Given the description of an element on the screen output the (x, y) to click on. 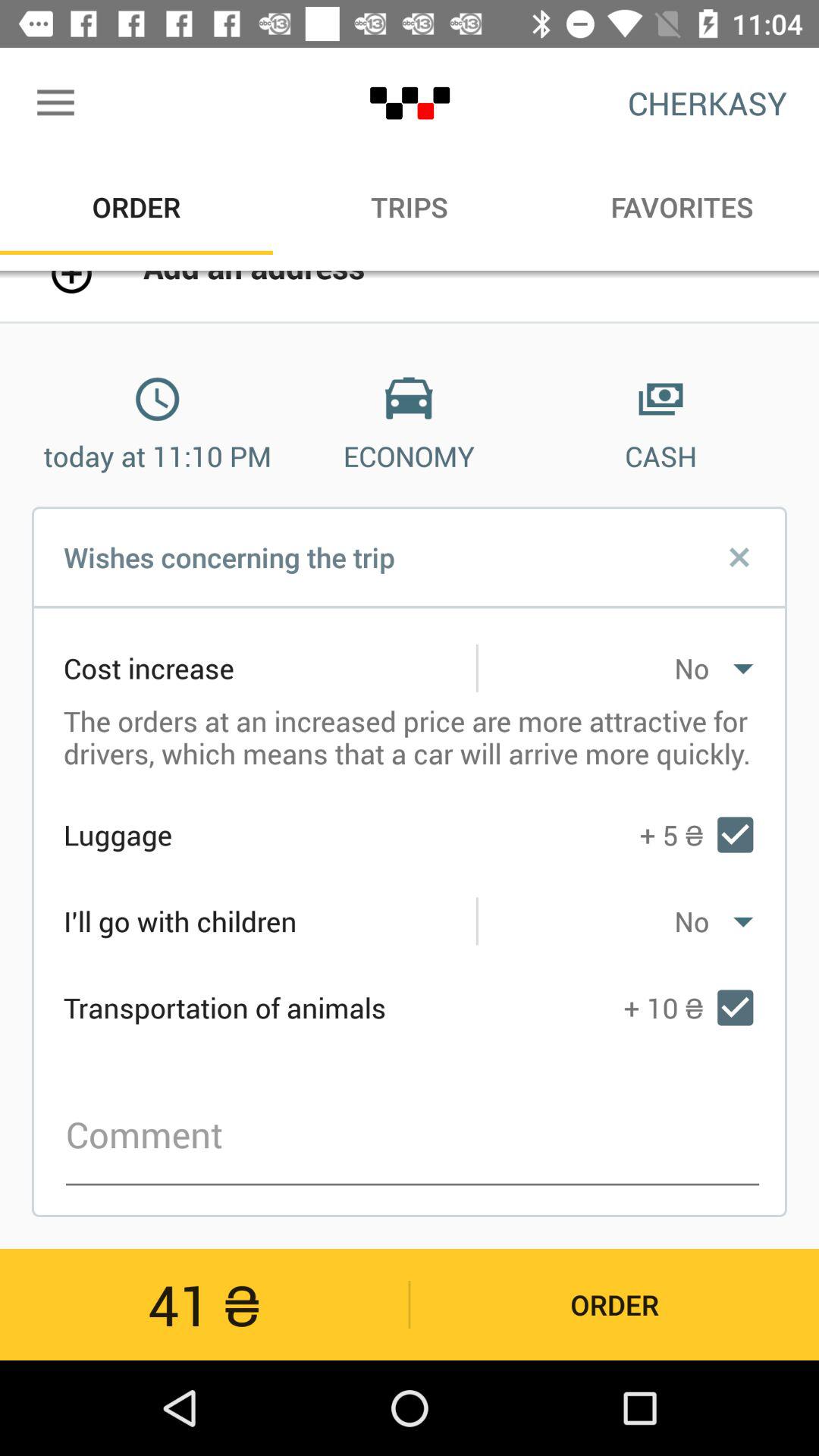
type a comment (412, 1135)
